Given the description of an element on the screen output the (x, y) to click on. 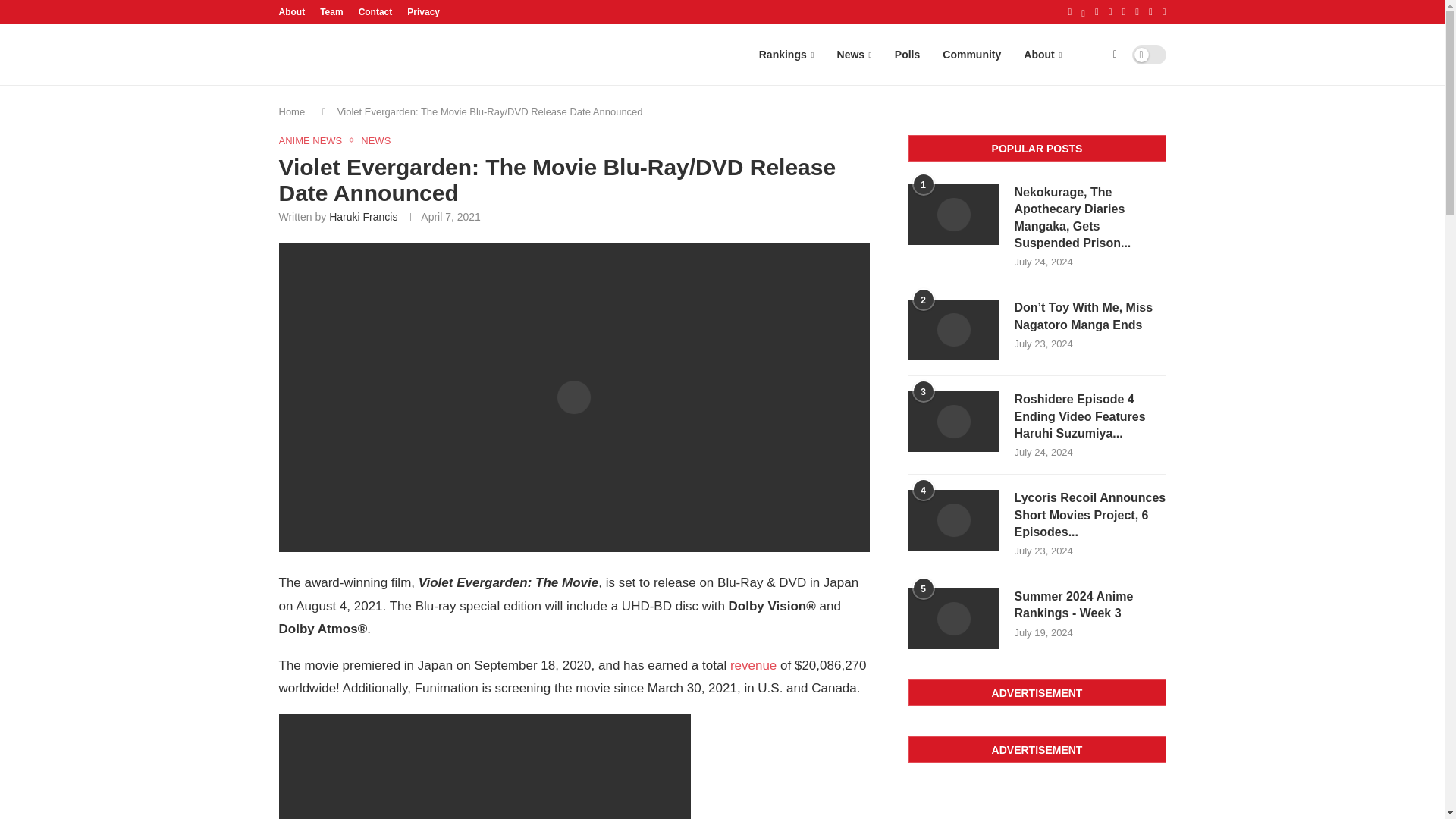
Team (331, 12)
Summer 2024 Anime Rankings - Week 3 (1090, 605)
Contact (375, 12)
Summer 2024 Anime Rankings - Week 3 (953, 618)
News (854, 54)
Polls (907, 54)
Community (971, 54)
Rankings (786, 54)
Privacy (423, 12)
About (1042, 54)
